Given the description of an element on the screen output the (x, y) to click on. 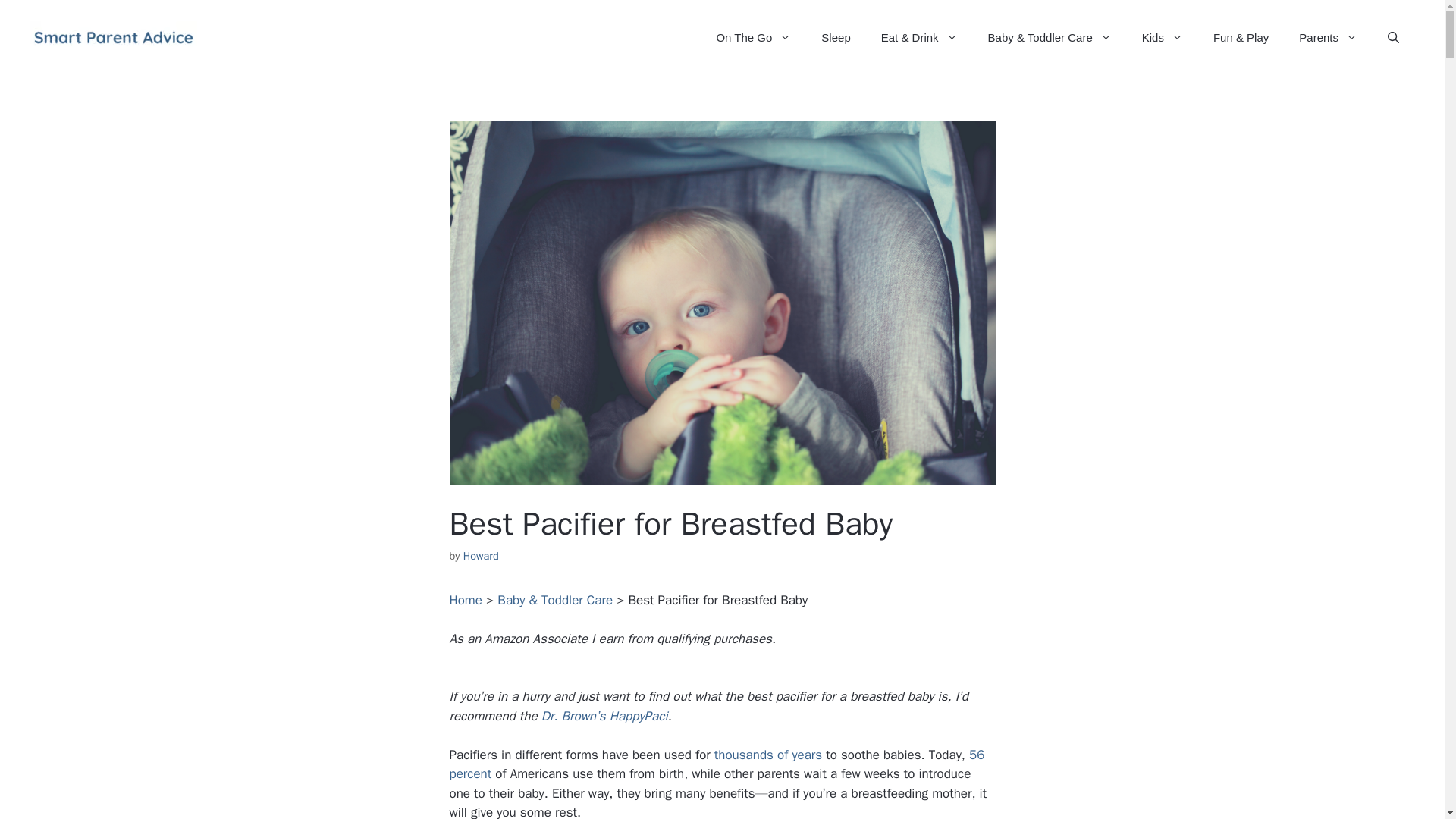
Sleep (835, 37)
Parents (1328, 37)
View all posts by Howard (481, 555)
Kids (1162, 37)
Howard (481, 555)
Home (464, 600)
thousands of years (768, 754)
On The Go (753, 37)
56 percent (716, 764)
